Given the description of an element on the screen output the (x, y) to click on. 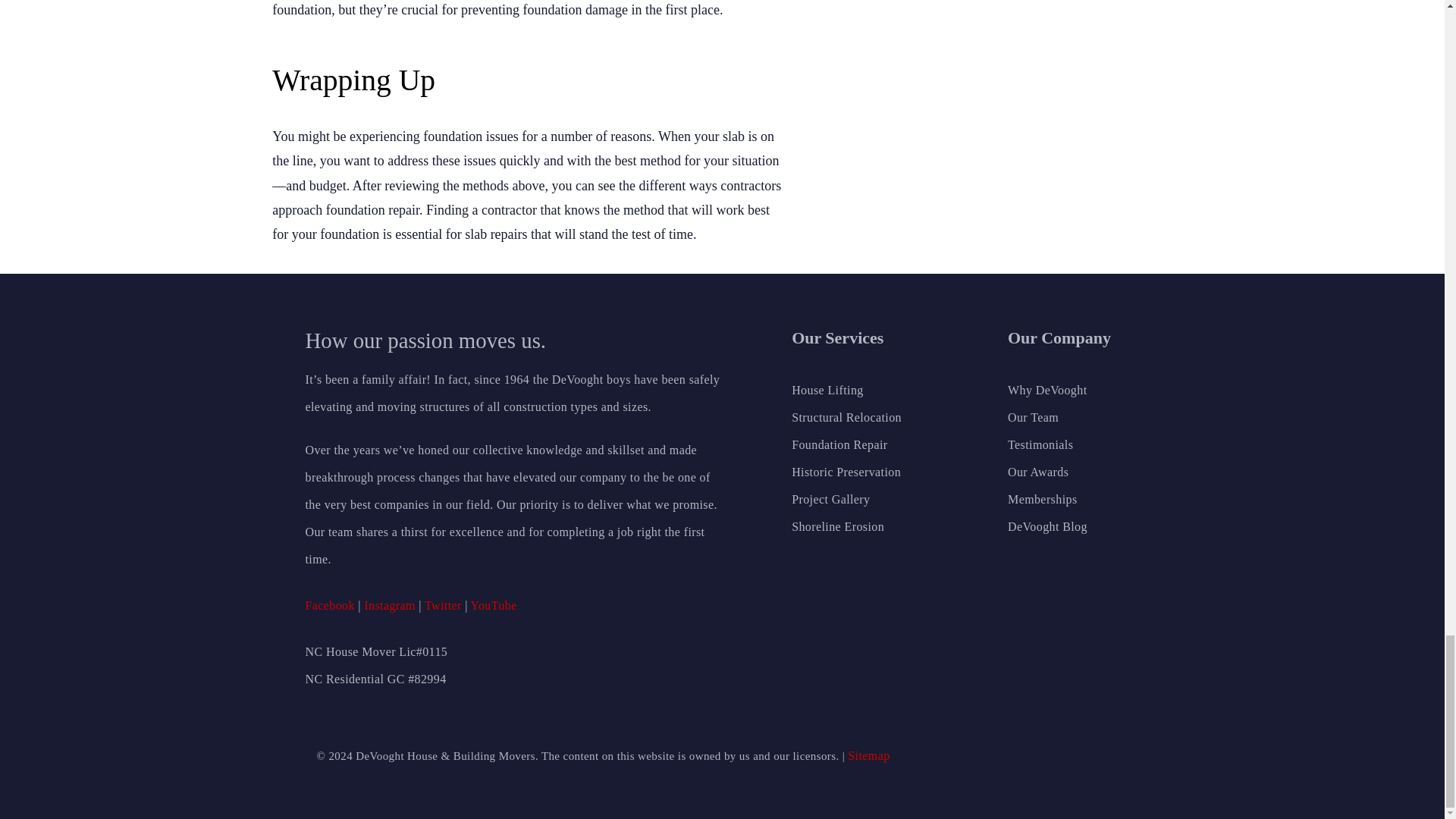
Why DeVooght (1072, 390)
Sitemap (868, 755)
Facebook (328, 604)
Testimonials (1072, 444)
YouTube (493, 604)
DeVooght Blog (1072, 526)
Twitter (443, 604)
Our Awards (1072, 472)
Memberships (1072, 499)
Foundation Repair (872, 444)
Historic Preservation (872, 472)
Shoreline Erosion (872, 526)
House Lifting (872, 390)
Our Team (1072, 417)
Project Gallery (872, 499)
